Given the description of an element on the screen output the (x, y) to click on. 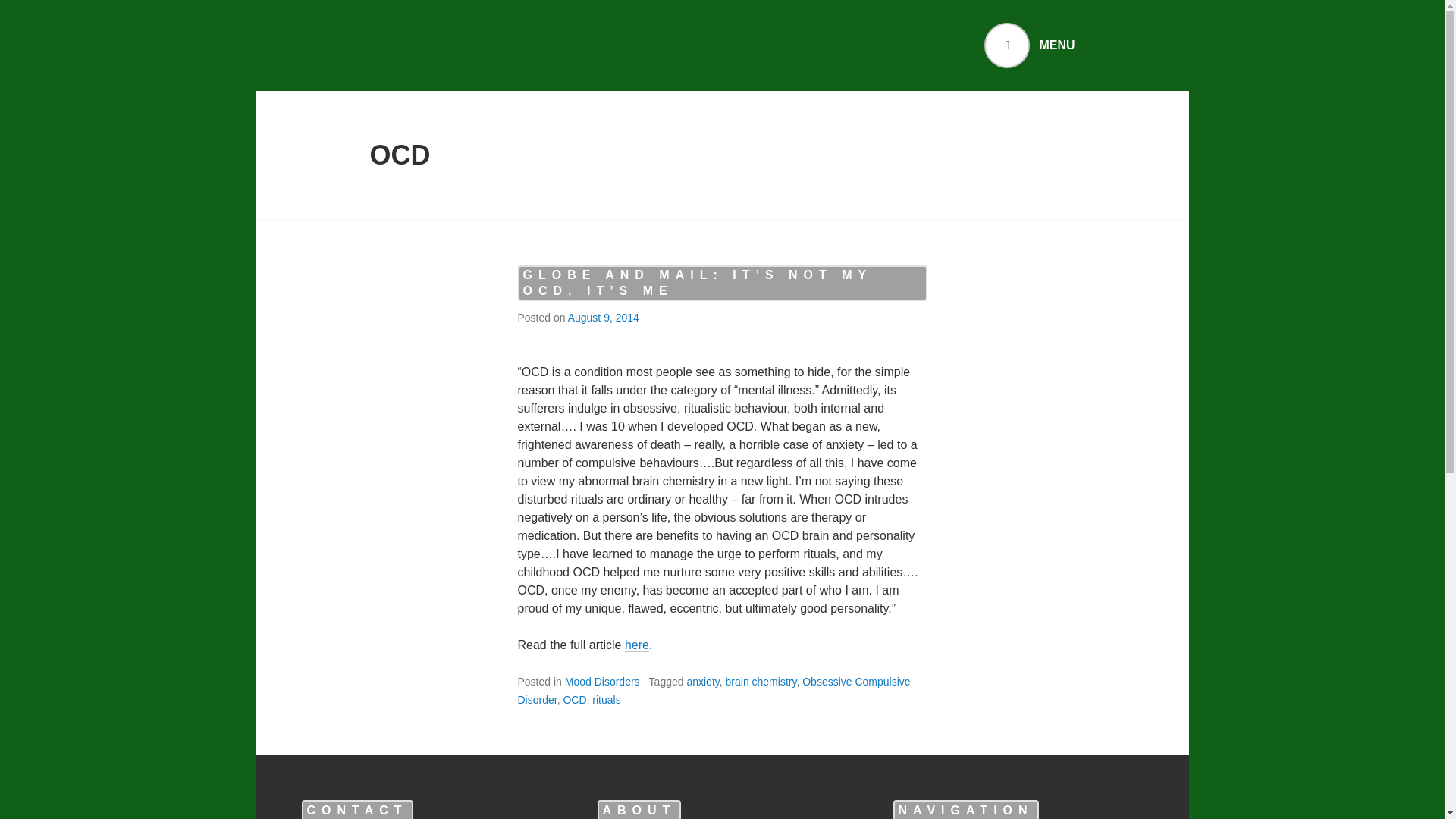
OCD (574, 699)
brain chemistry (760, 681)
Mood Disorders (602, 681)
August 9, 2014 (603, 317)
anxiety (702, 681)
Obsessive Compulsive Disorder (713, 690)
SUZANA G. HAUER PSYD (537, 45)
MENU (1029, 44)
rituals (606, 699)
